Given the description of an element on the screen output the (x, y) to click on. 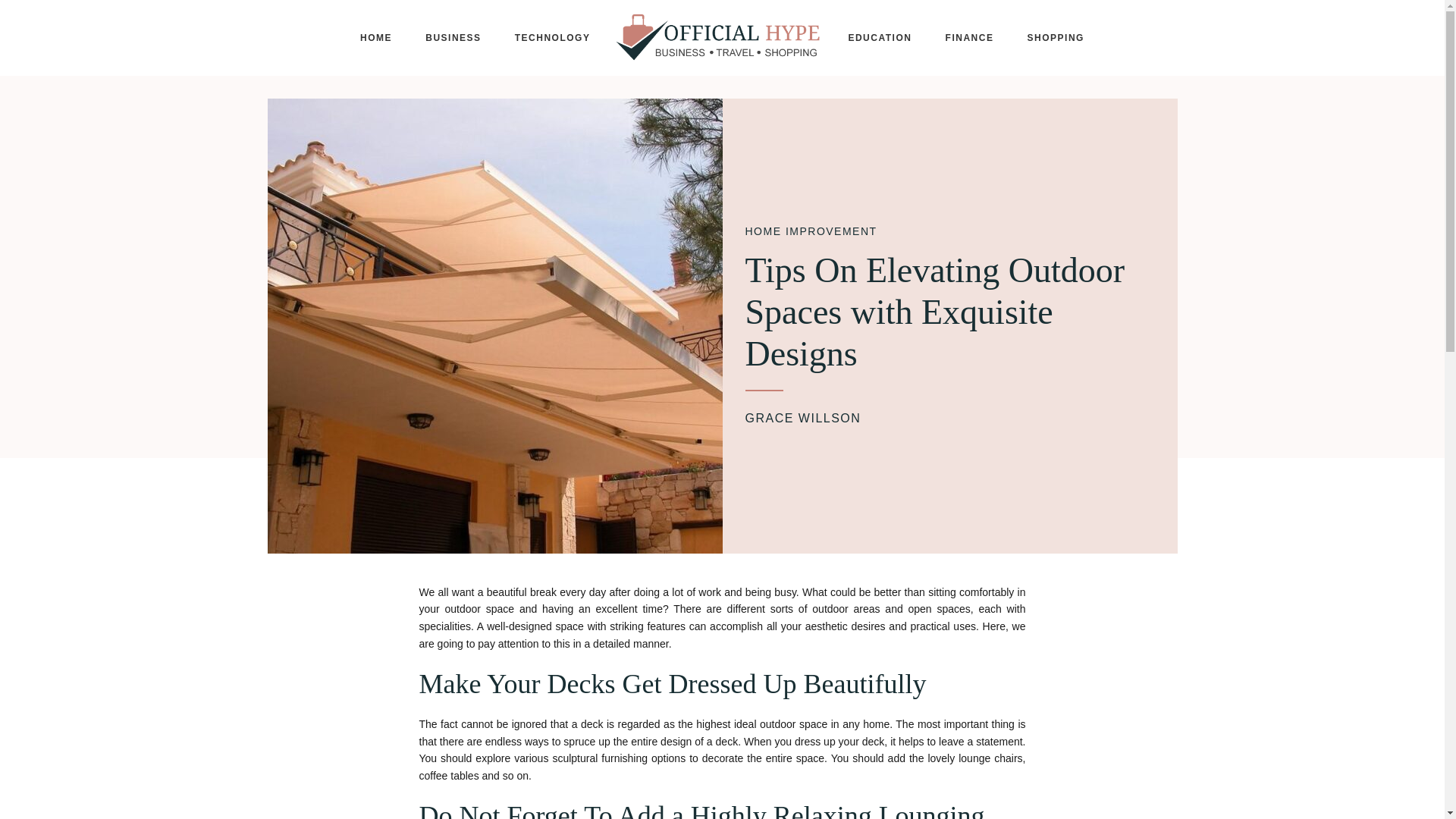
HOME IMPROVEMENT (810, 231)
TECHNOLOGY (552, 37)
FINANCE (969, 37)
BUSINESS (453, 37)
EDUCATION (879, 37)
GRACE WILLSON (802, 418)
SHOPPING (1055, 37)
HOME (376, 37)
